Given the description of an element on the screen output the (x, y) to click on. 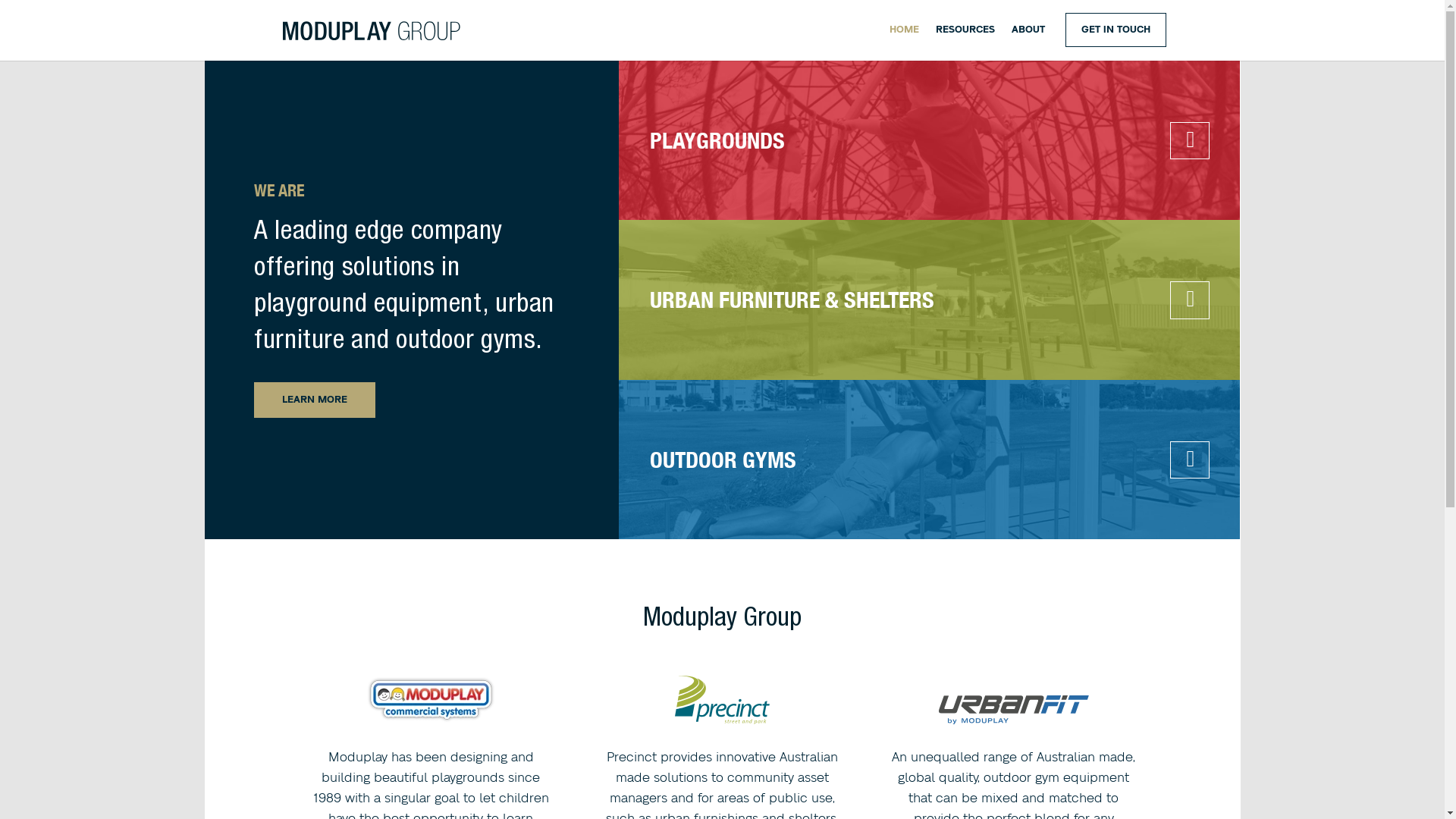
ABOUT Element type: text (1027, 42)
PLAYGROUNDS Element type: text (716, 139)
HOME Element type: text (903, 42)
RESOURCES Element type: text (964, 42)
GET IN TOUCH Element type: text (1114, 29)
LEARN MORE Element type: text (314, 399)
OUTDOOR GYMS Element type: text (722, 459)
URBAN FURNITURE & SHELTERS Element type: text (791, 299)
